Given the description of an element on the screen output the (x, y) to click on. 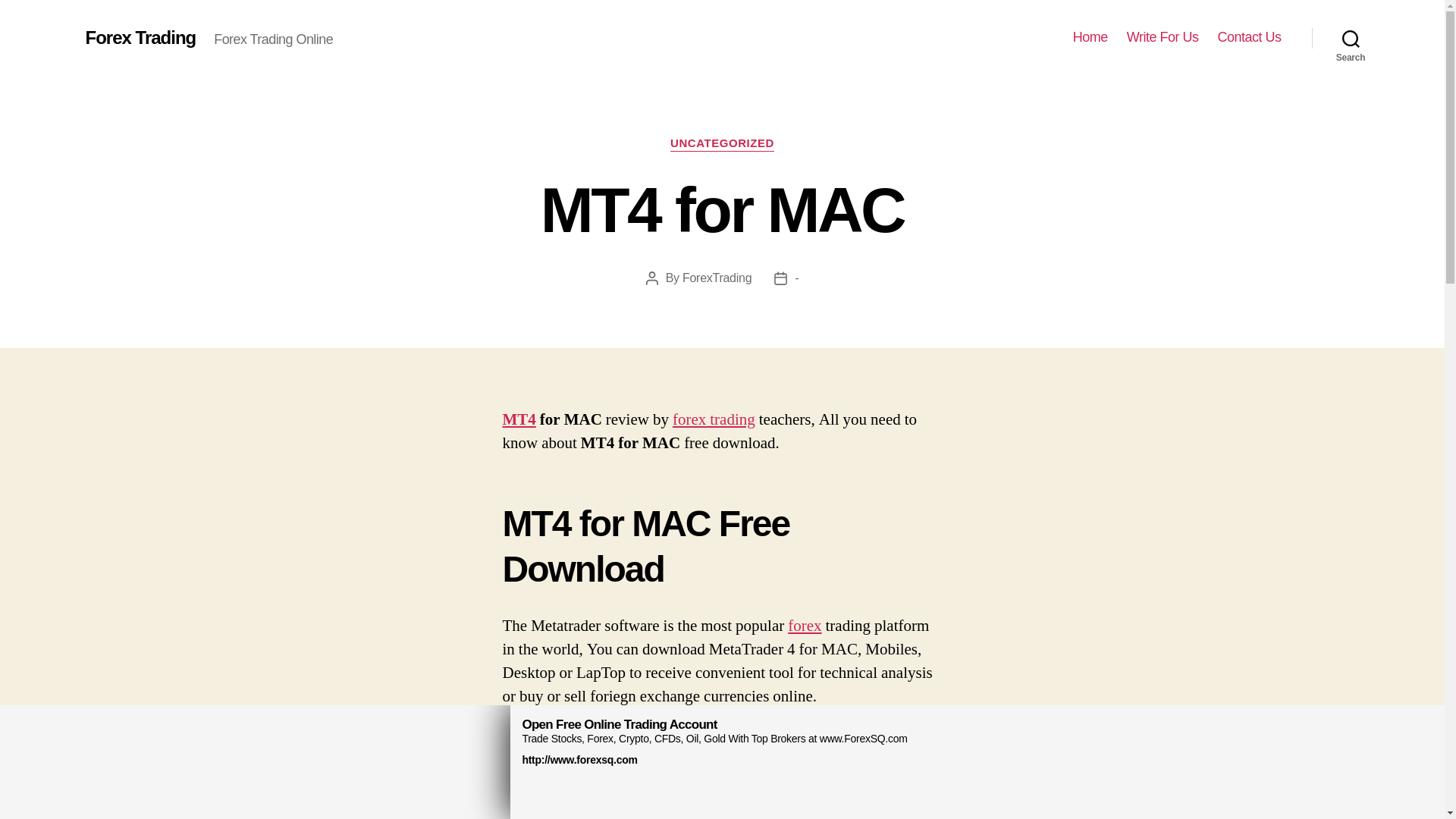
MT4 (518, 419)
forex trading (713, 419)
ForexTrading (716, 277)
Write For Us (1162, 37)
UNCATEGORIZED (721, 143)
Search (1350, 37)
Home (1090, 37)
Contact Us (1249, 37)
Forex Trading (139, 37)
forex (804, 625)
